Given the description of an element on the screen output the (x, y) to click on. 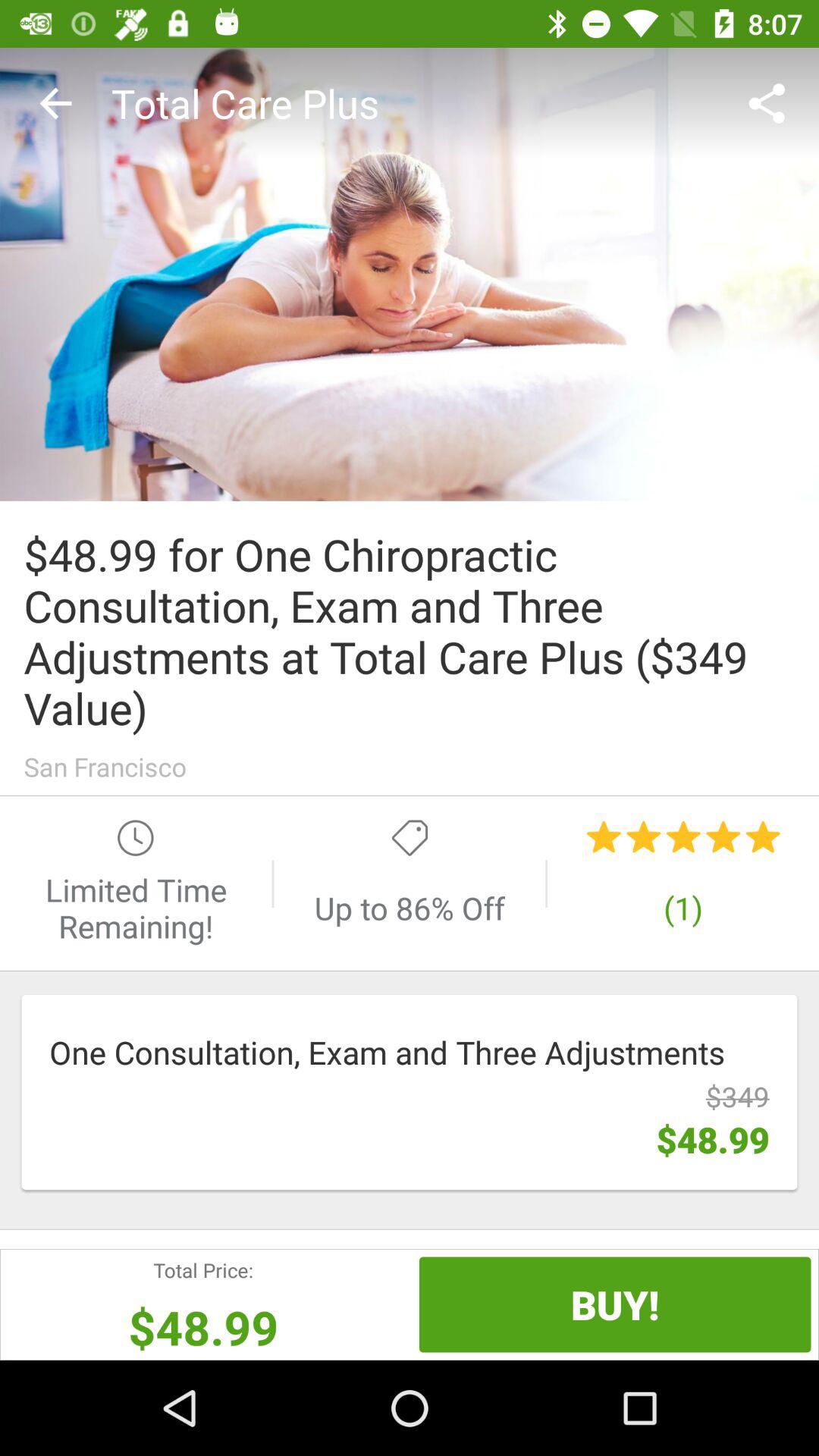
choose the icon next to total care plus icon (55, 103)
